Given the description of an element on the screen output the (x, y) to click on. 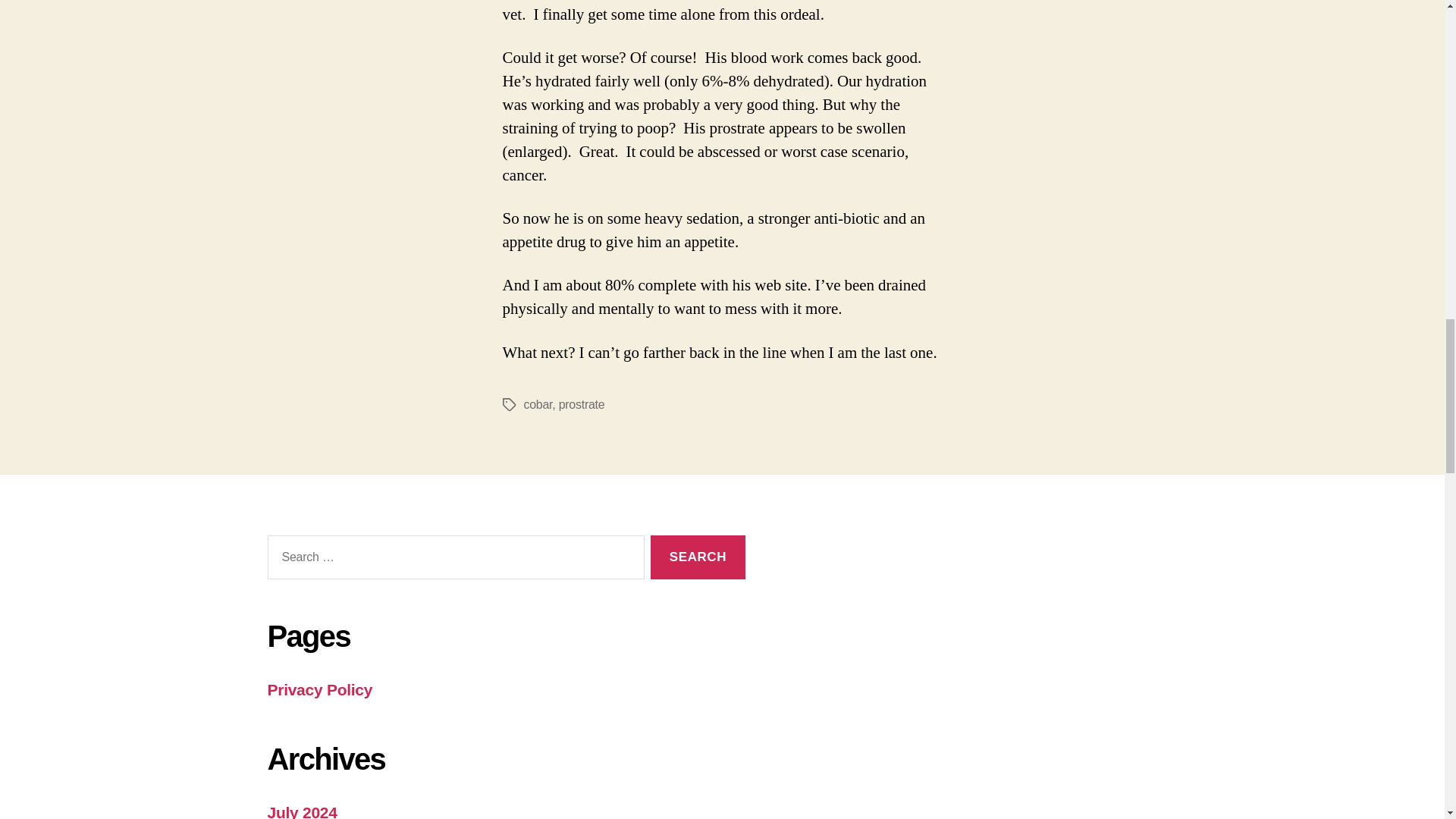
Privacy Policy (319, 689)
cobar (536, 404)
prostrate (582, 404)
Search (697, 557)
July 2024 (301, 811)
Search (697, 557)
Search (697, 557)
